Given the description of an element on the screen output the (x, y) to click on. 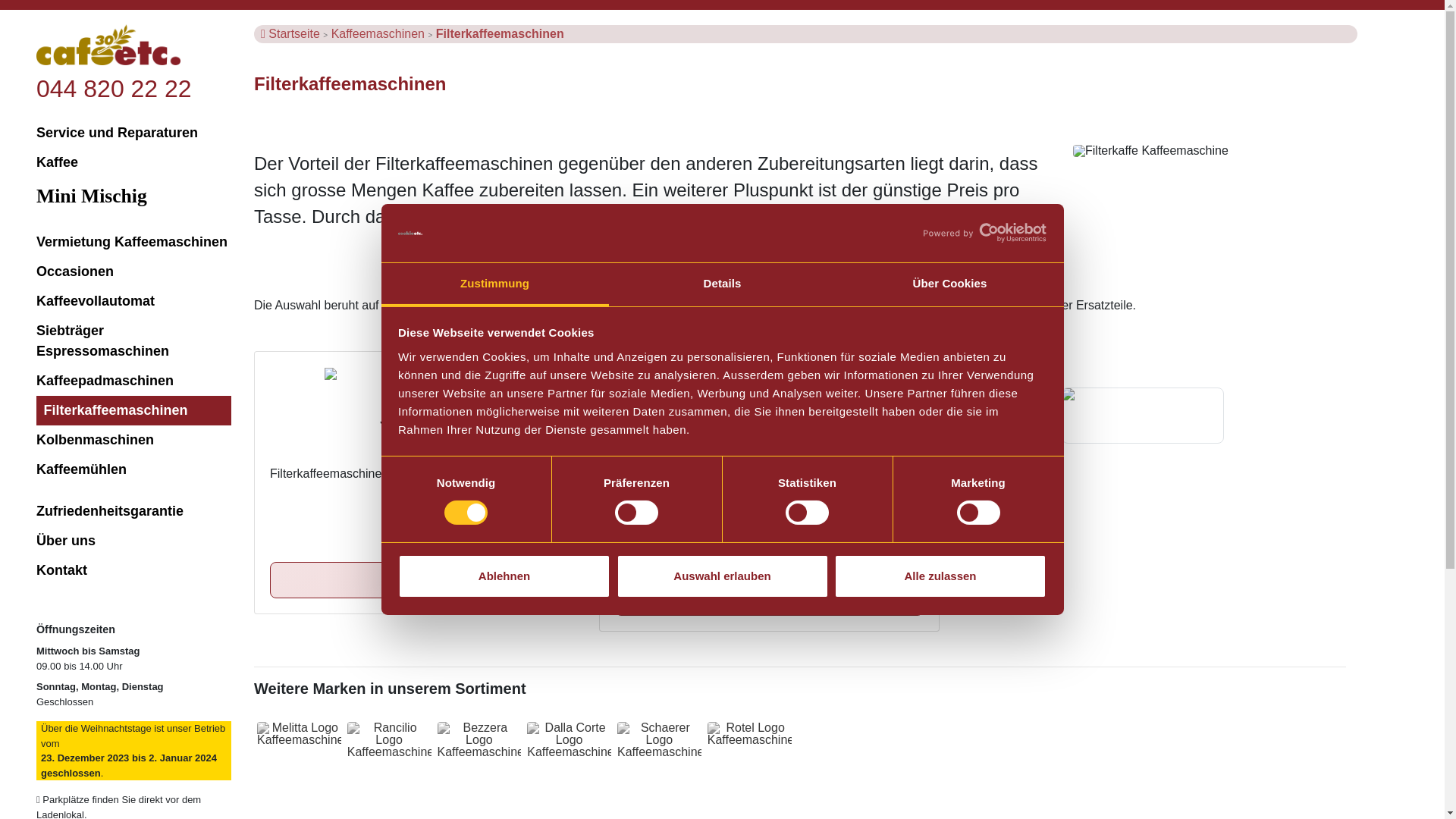
Kontakt Element type: text (133, 570)
Occasionen Element type: text (133, 271)
Kaffeepadmaschinen Element type: text (133, 380)
Mini Mischig Element type: text (133, 196)
Details Element type: text (721, 284)
Zustimmung Element type: text (494, 284)
Filterkaffeemaschinen Element type: text (133, 410)
Filterkaffeemaschinen Element type: text (500, 33)
Ablehnen Element type: text (504, 576)
Kaffeemaschinen Element type: text (379, 33)
Joy Resolve Element type: text (423, 579)
Kaffeevollautomat Element type: text (133, 301)
Auswahl erlauben Element type: text (721, 576)
Startseite Element type: text (295, 33)
Kaffee Element type: text (133, 162)
Kolbenmaschinen Element type: text (133, 440)
044 820 22 22 Element type: text (113, 88)
Alle zulassen Element type: text (940, 576)
Vermietung Kaffeemaschinen Element type: text (133, 242)
Ratio Coffee Eight Element type: text (769, 597)
Service und Reparaturen Element type: text (133, 132)
Zufriedenheitsgarantie Element type: text (133, 511)
